Given the description of an element on the screen output the (x, y) to click on. 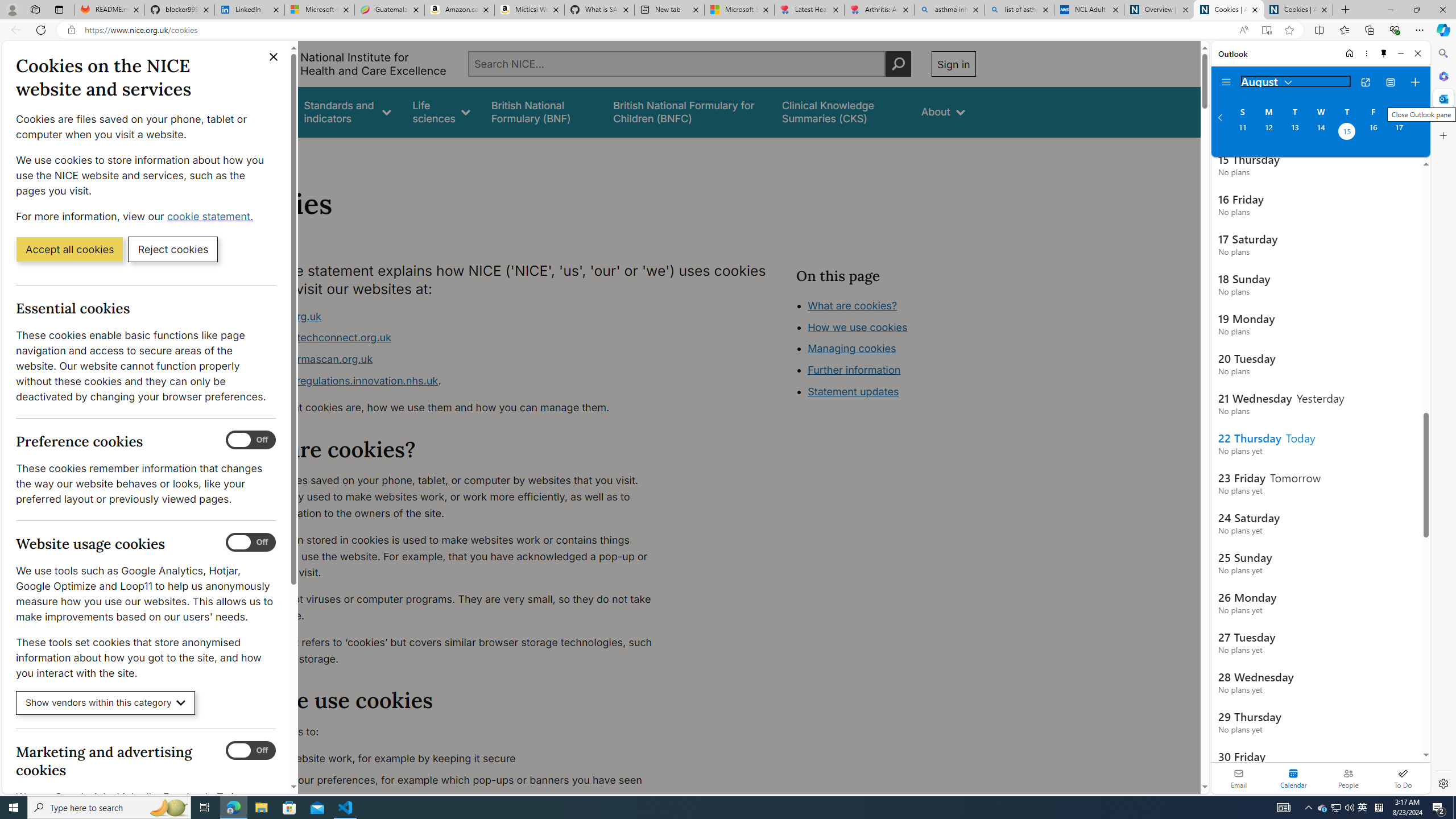
Guidance (260, 111)
